Given the description of an element on the screen output the (x, y) to click on. 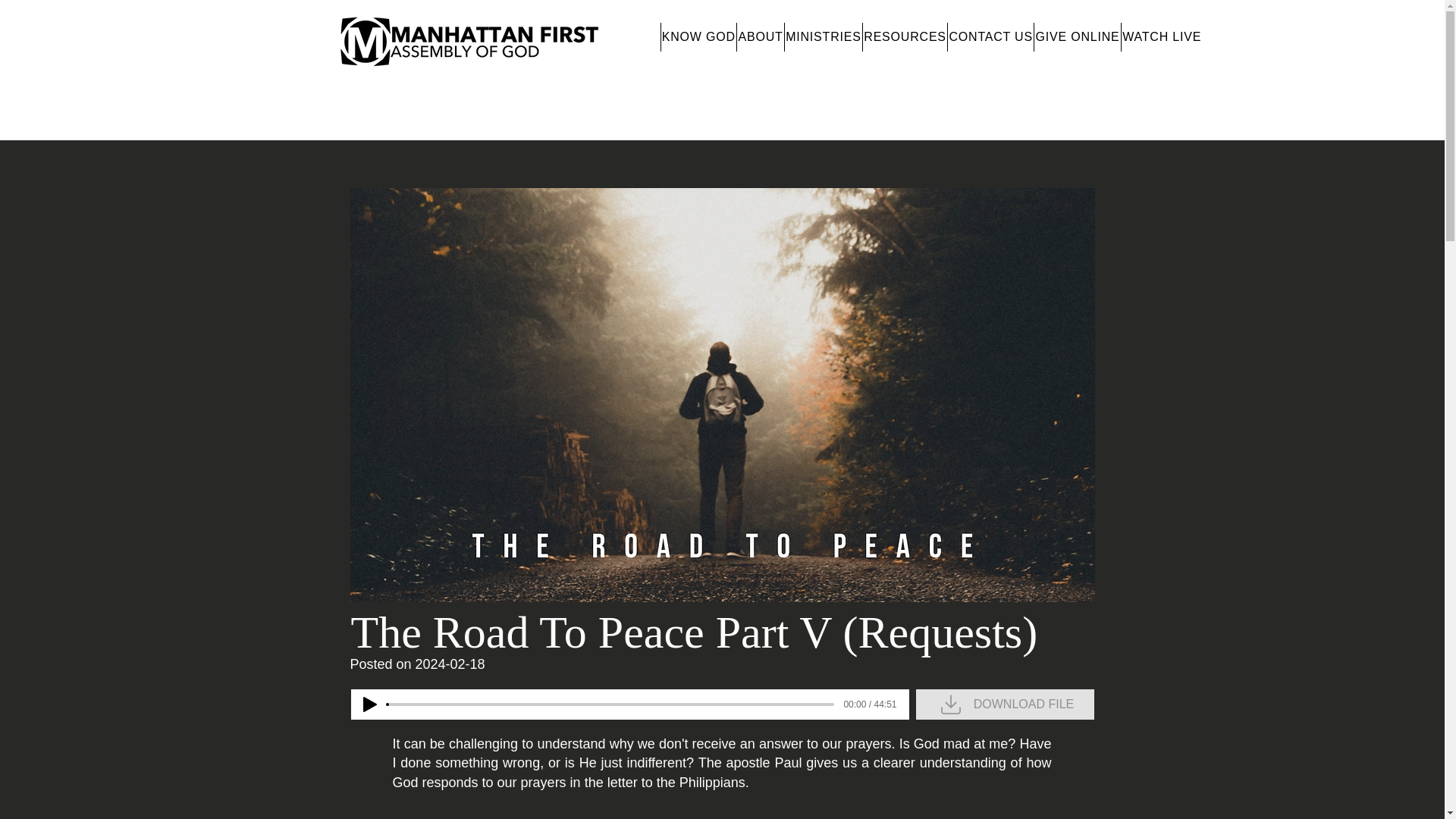
0 (610, 703)
DOWNLOAD FILE (1004, 704)
KNOW GOD (697, 36)
CONTACT US (990, 36)
GIVE ONLINE (1077, 36)
WATCH LIVE (1161, 36)
